Given the description of an element on the screen output the (x, y) to click on. 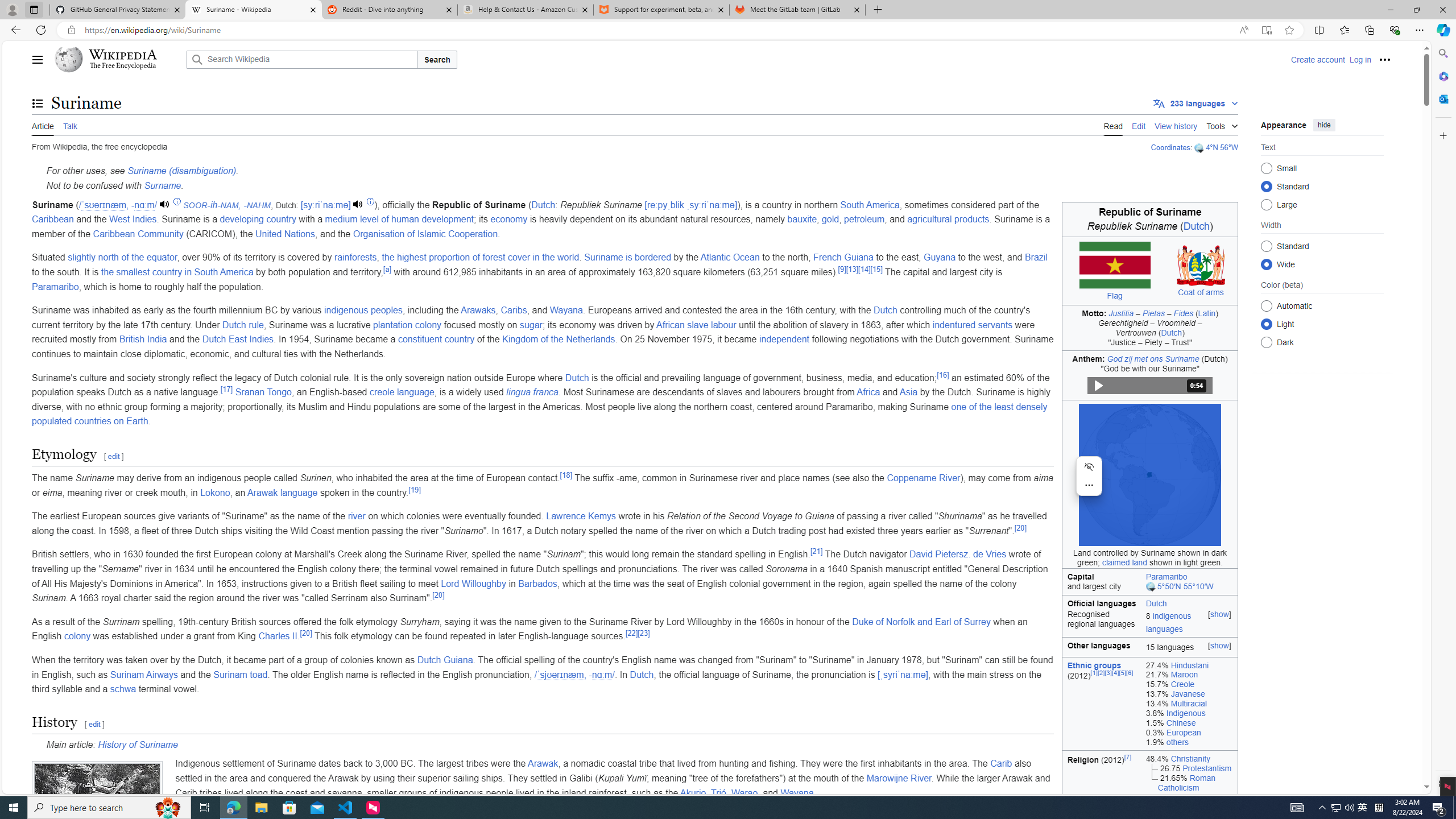
Asia (908, 392)
Edit (1138, 124)
Wikipedia The Free Encyclopedia (117, 59)
Other languages (1101, 647)
Light (1266, 323)
indigenous languages (1168, 622)
Help & Contact Us - Amazon Customer Service - Sleeping (525, 9)
Pietas (1152, 312)
[23] (643, 632)
Coat of arms of Suriname (1200, 264)
